Given the description of an element on the screen output the (x, y) to click on. 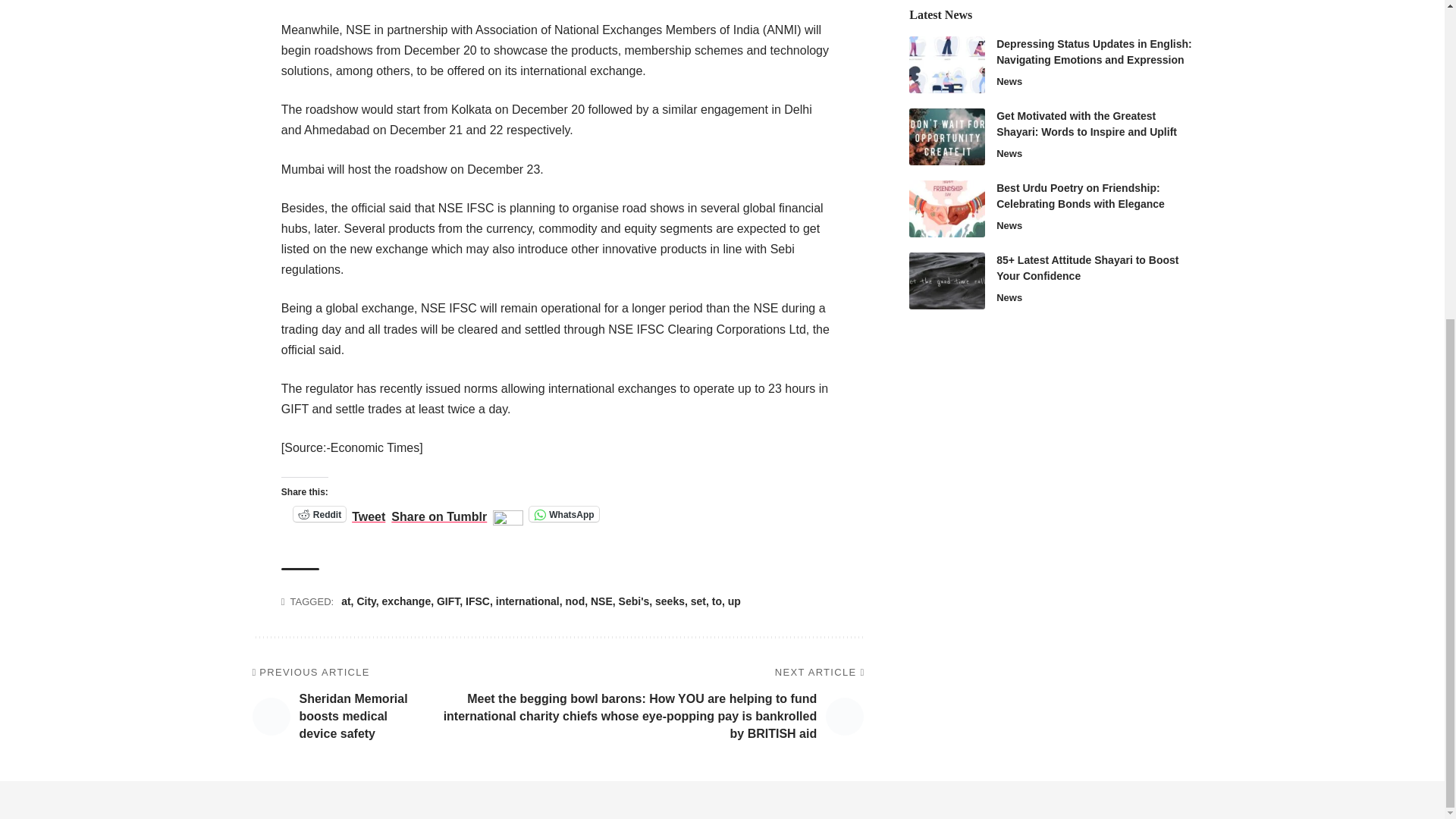
Share on Tumblr (438, 513)
Click to share on WhatsApp (563, 513)
Click to share on Reddit (320, 513)
